Given the description of an element on the screen output the (x, y) to click on. 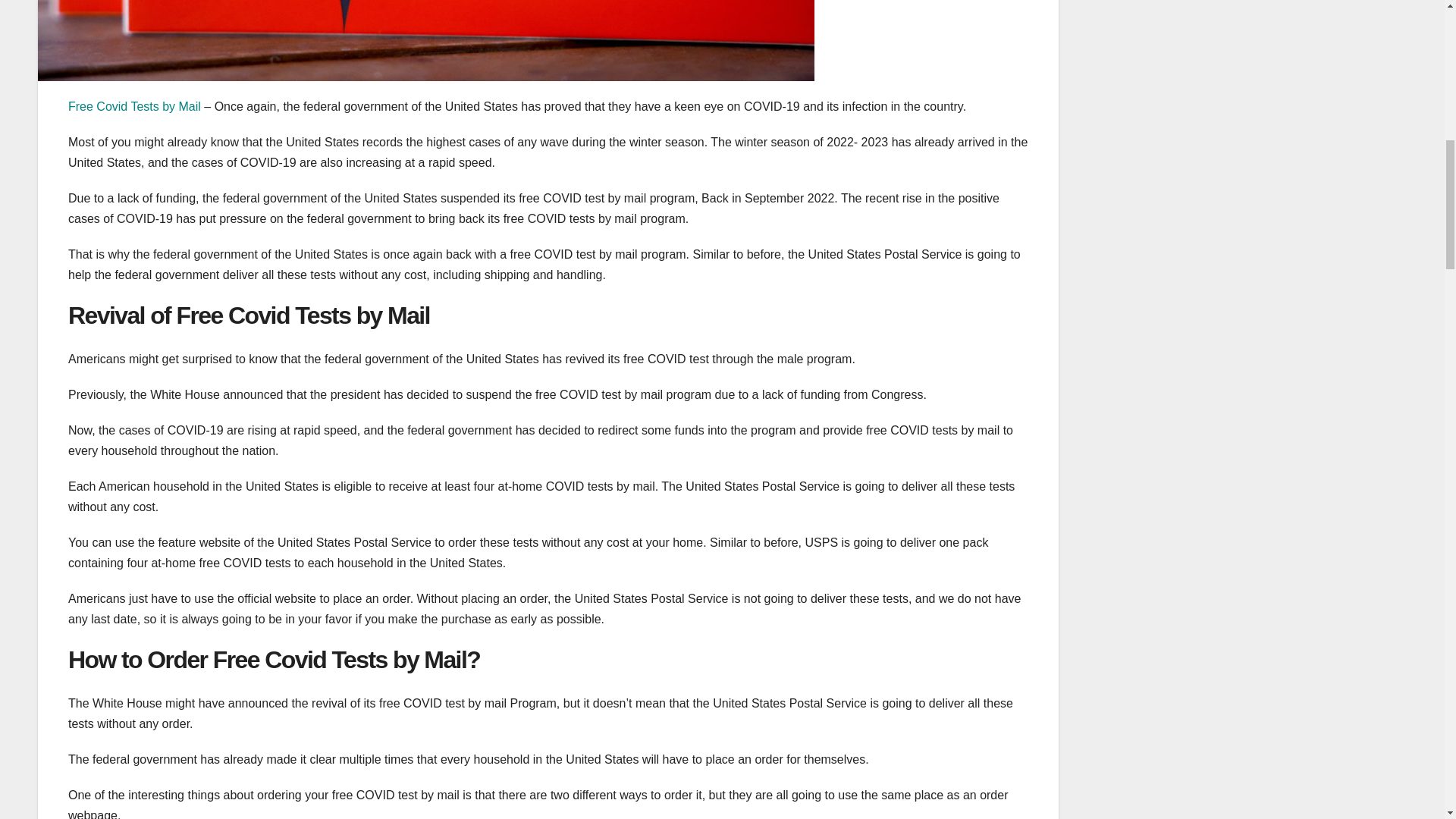
Free Covid Tests by Mail (134, 106)
